Given the description of an element on the screen output the (x, y) to click on. 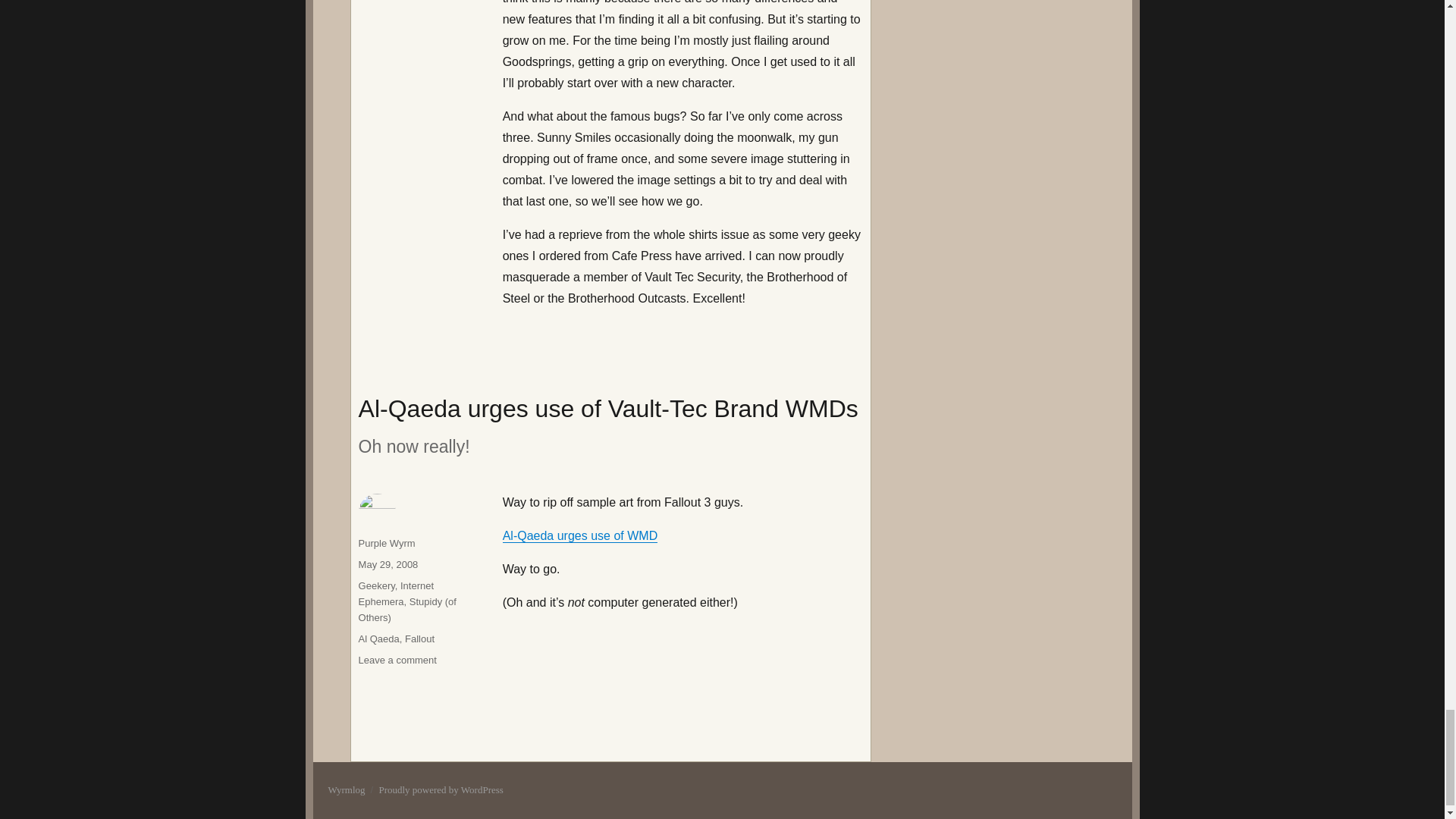
Al-Qaeda urges use of WMD (580, 535)
